Given the description of an element on the screen output the (x, y) to click on. 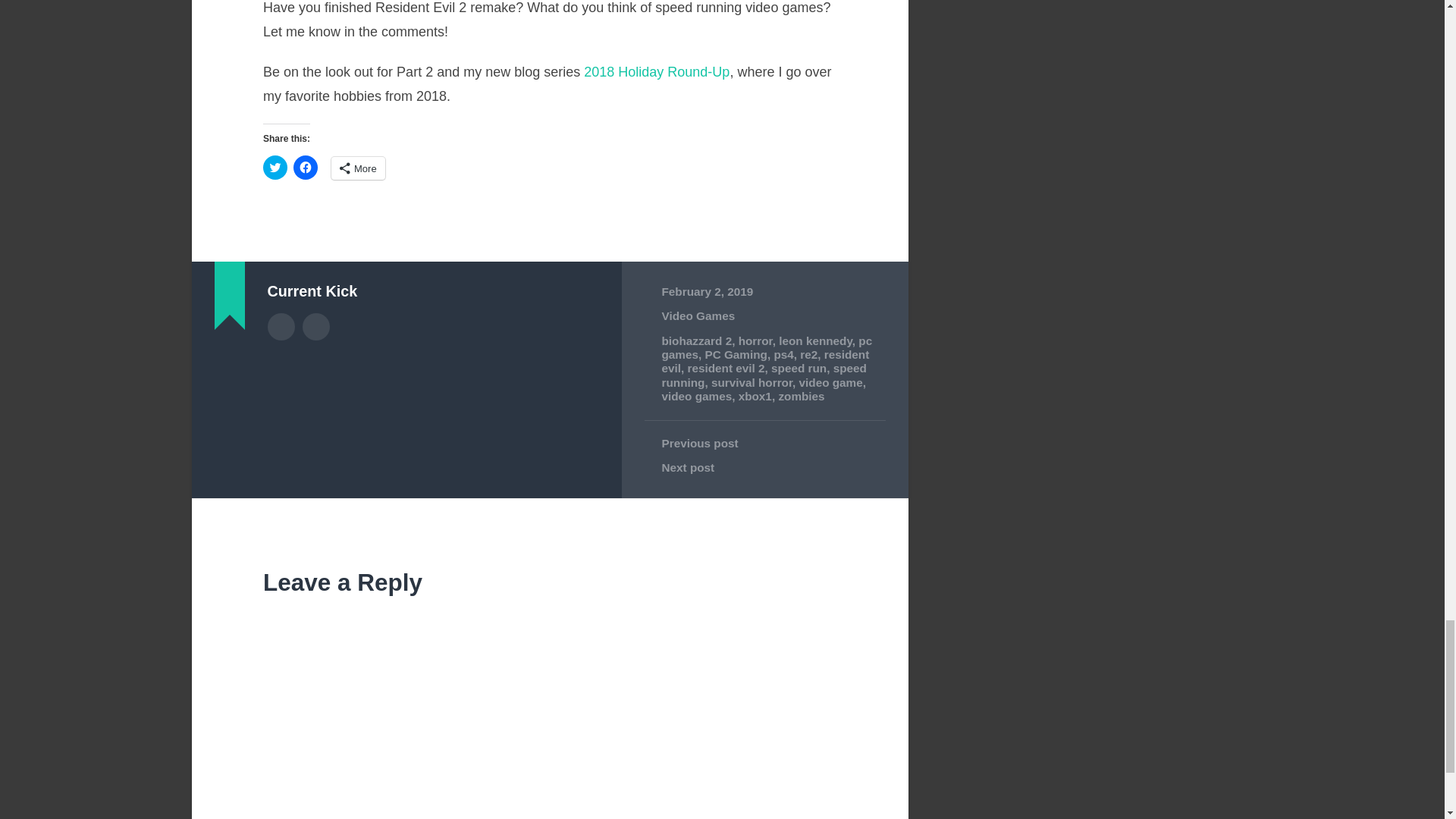
Click to share on Twitter (274, 167)
Comment Form (549, 710)
Click to share on Facebook (305, 167)
